Given the description of an element on the screen output the (x, y) to click on. 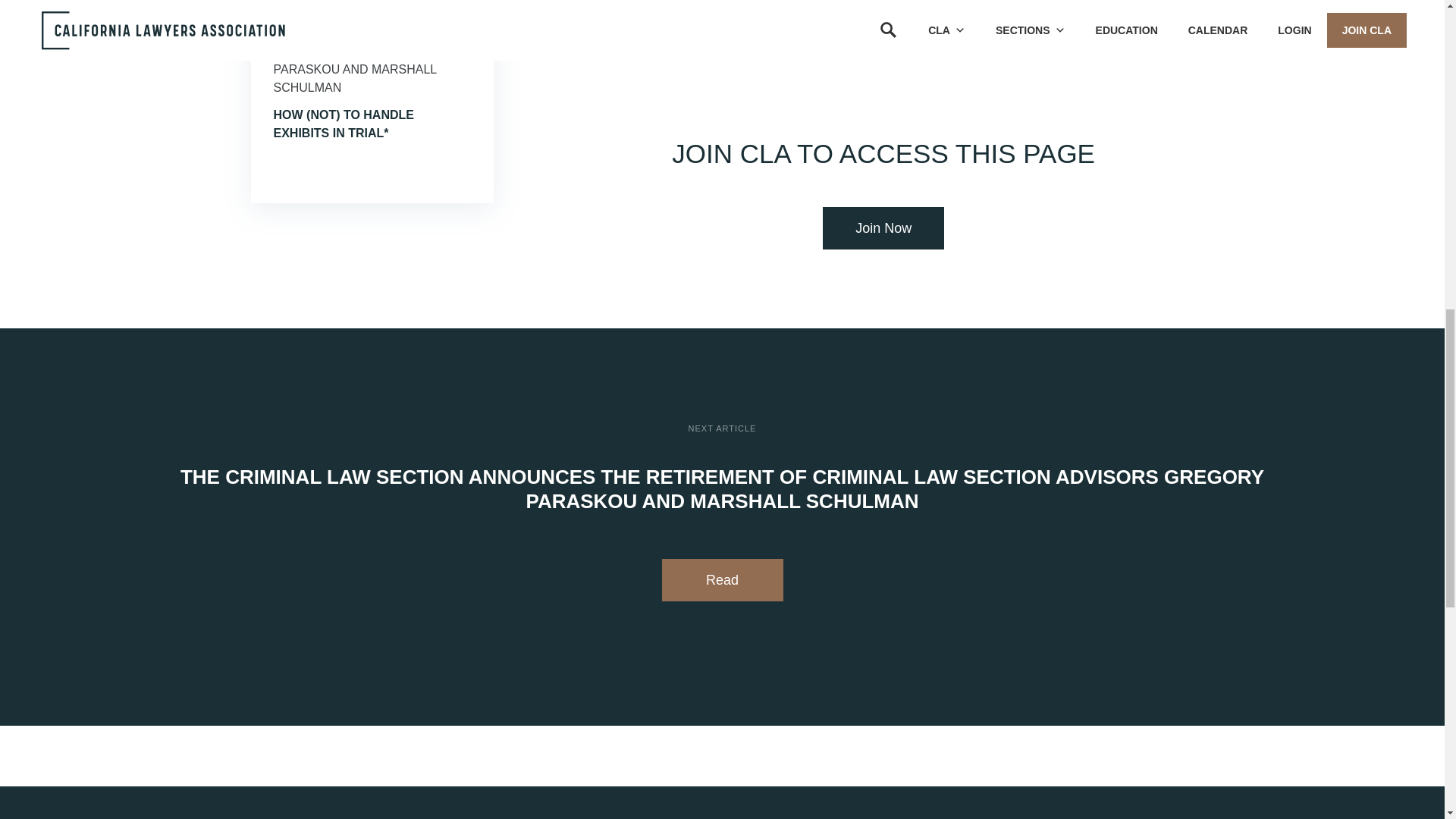
Join Now (882, 228)
